Given the description of an element on the screen output the (x, y) to click on. 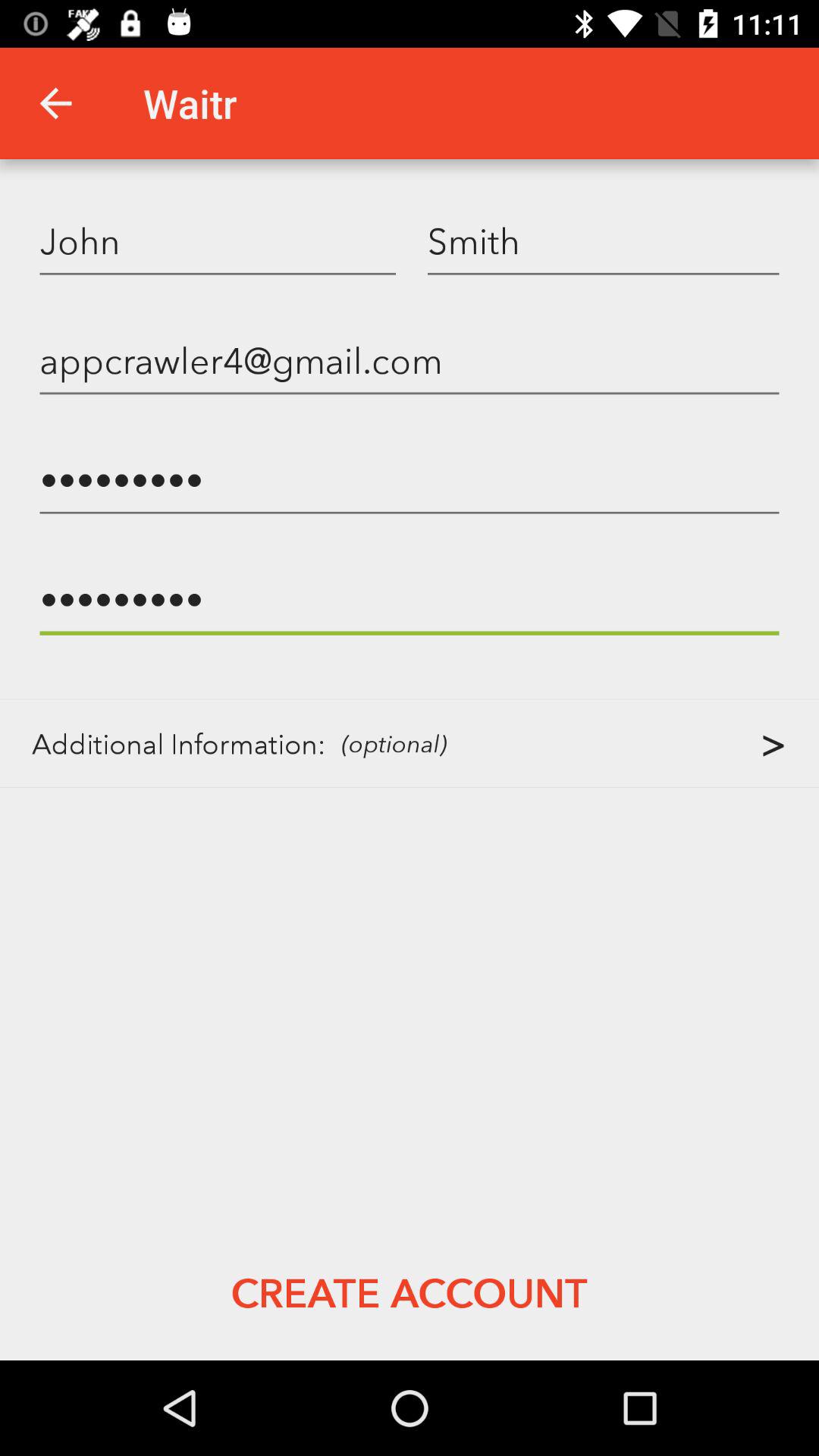
tap john (217, 240)
